Given the description of an element on the screen output the (x, y) to click on. 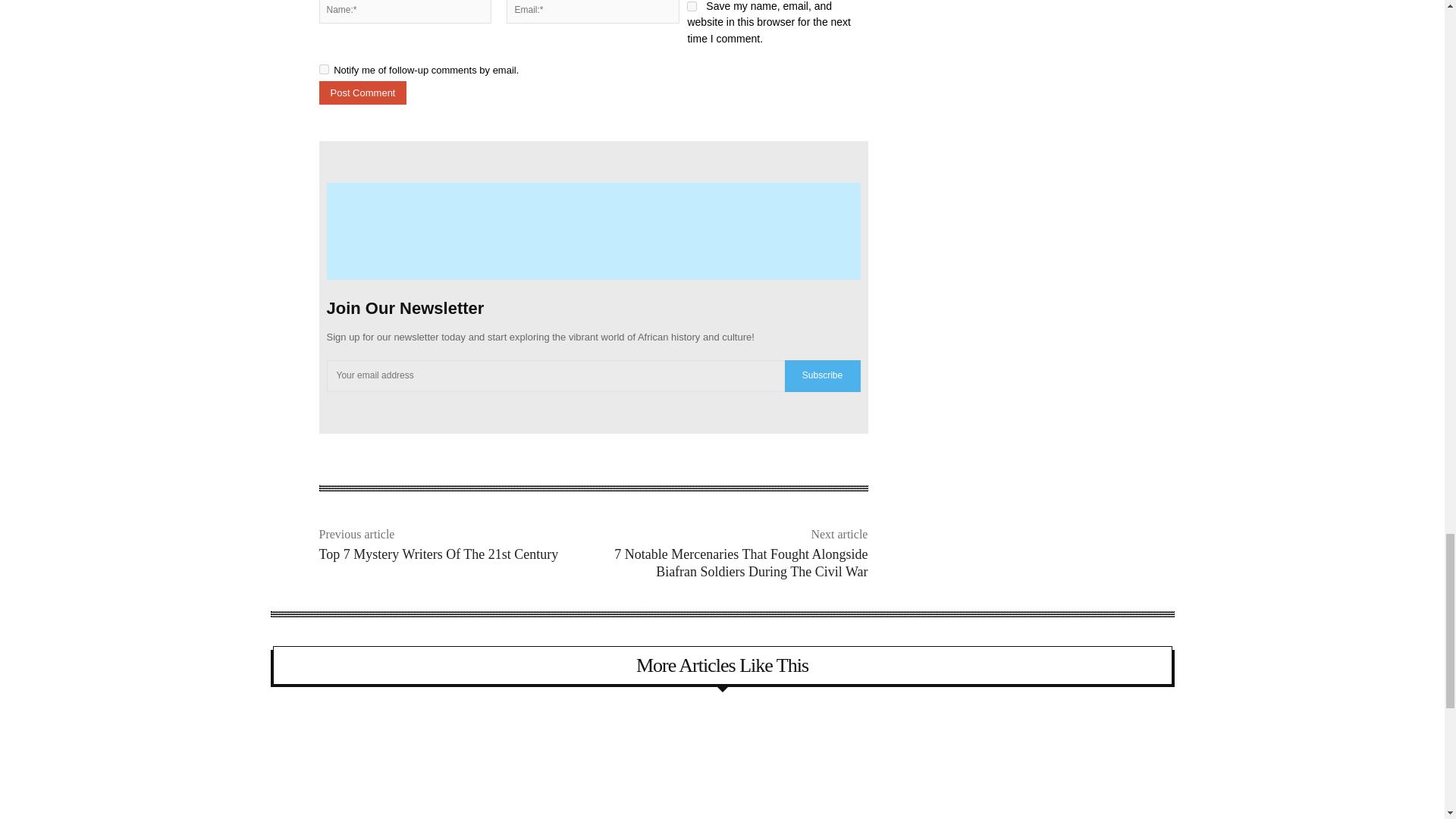
yes (692, 6)
Post Comment (362, 92)
subscribe (323, 69)
